Given the description of an element on the screen output the (x, y) to click on. 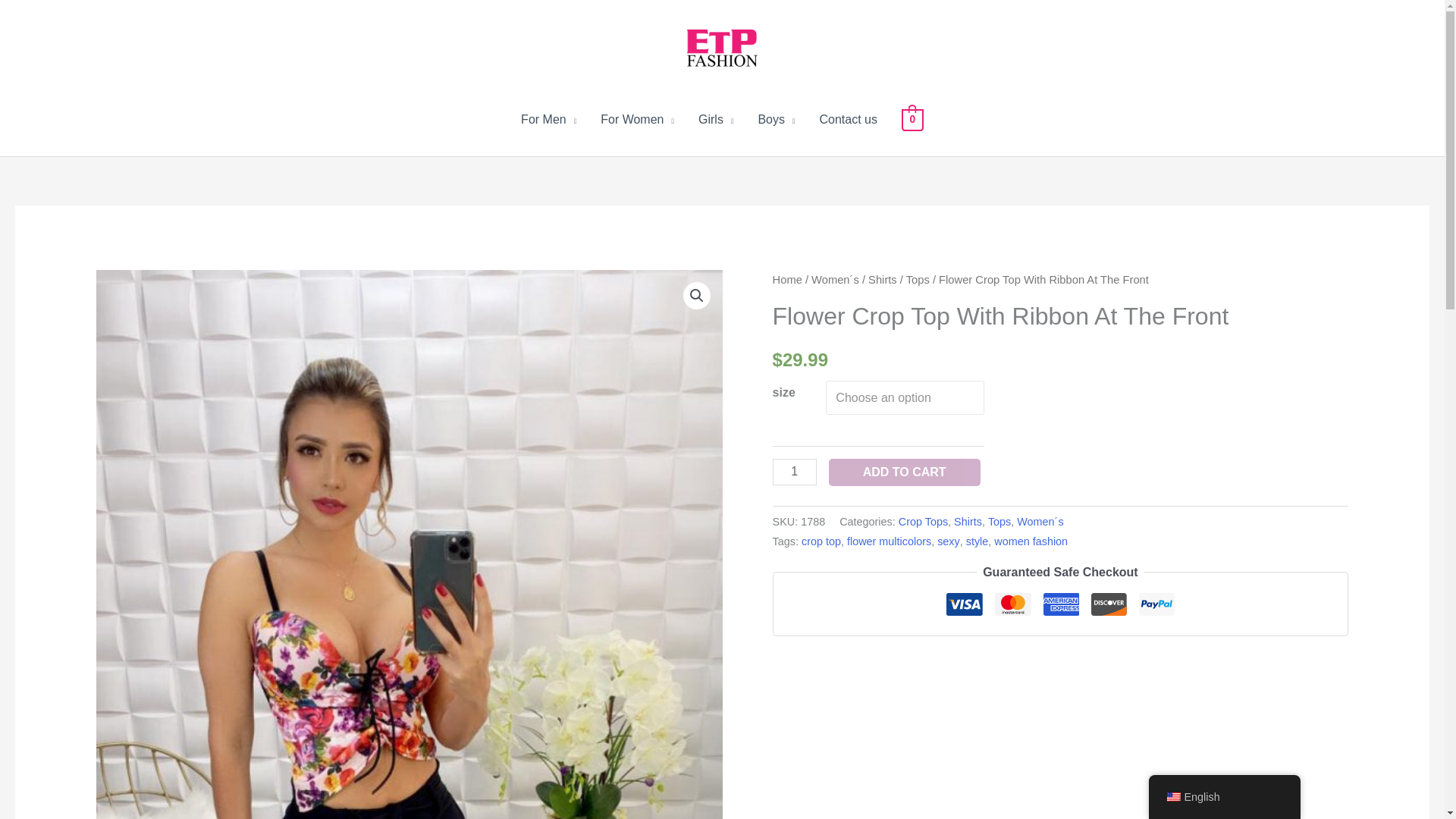
Qty (794, 471)
English (1172, 796)
1 (794, 471)
For Men (548, 119)
